Given the description of an element on the screen output the (x, y) to click on. 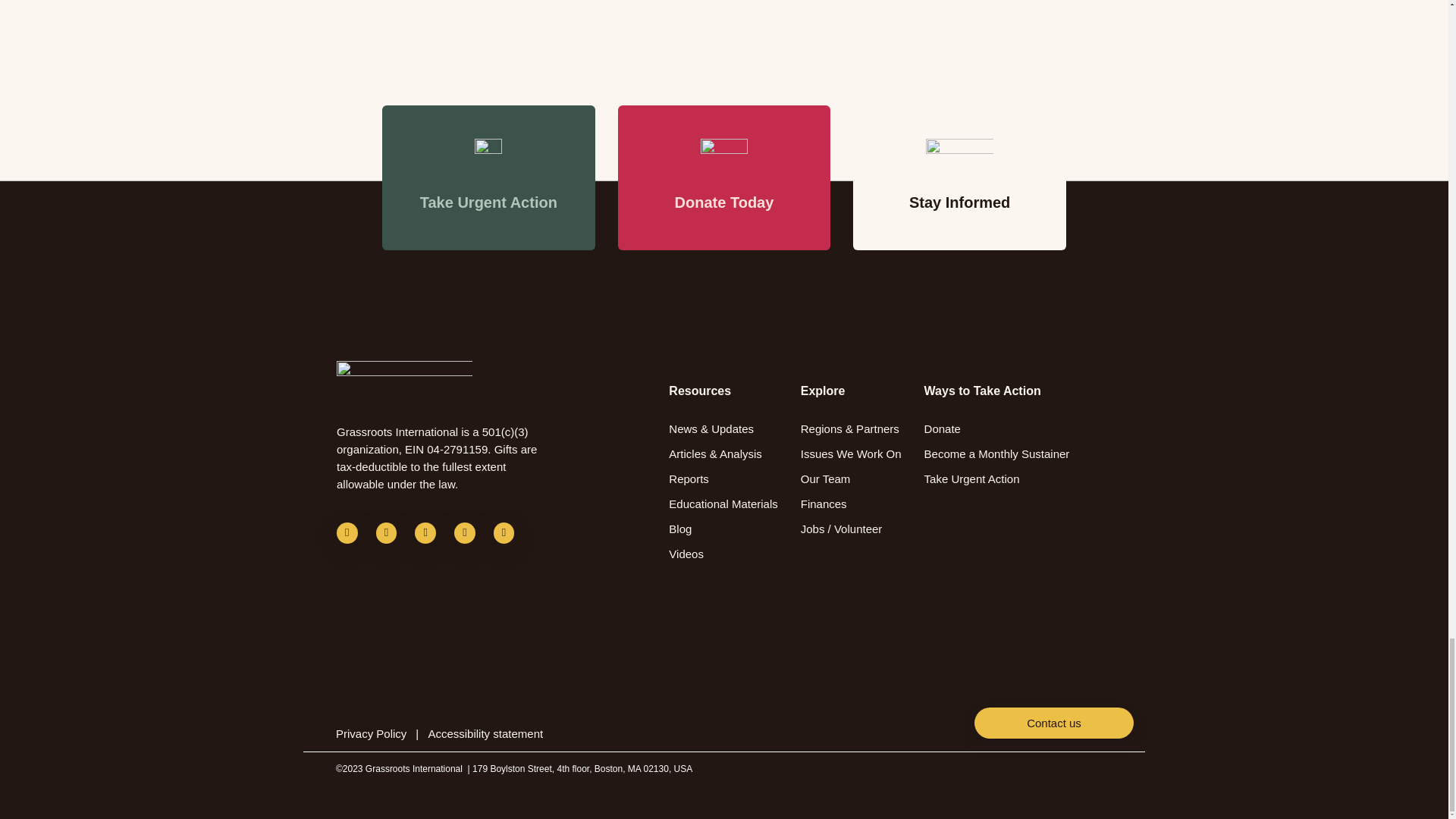
Instagram (504, 532)
Facebook (347, 532)
Twitter (386, 532)
LinkedIn (424, 532)
YouTube (465, 532)
